Given the description of an element on the screen output the (x, y) to click on. 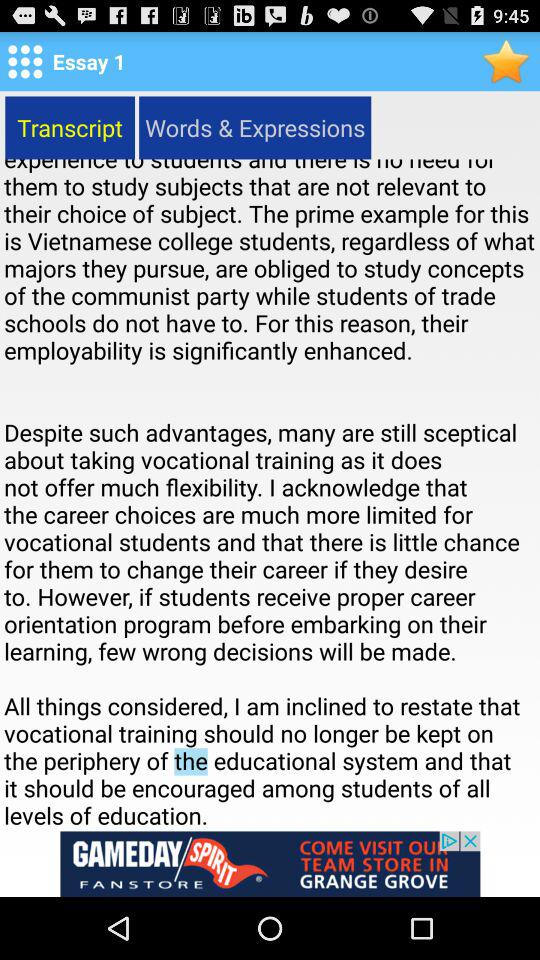
go to rating (506, 60)
